Given the description of an element on the screen output the (x, y) to click on. 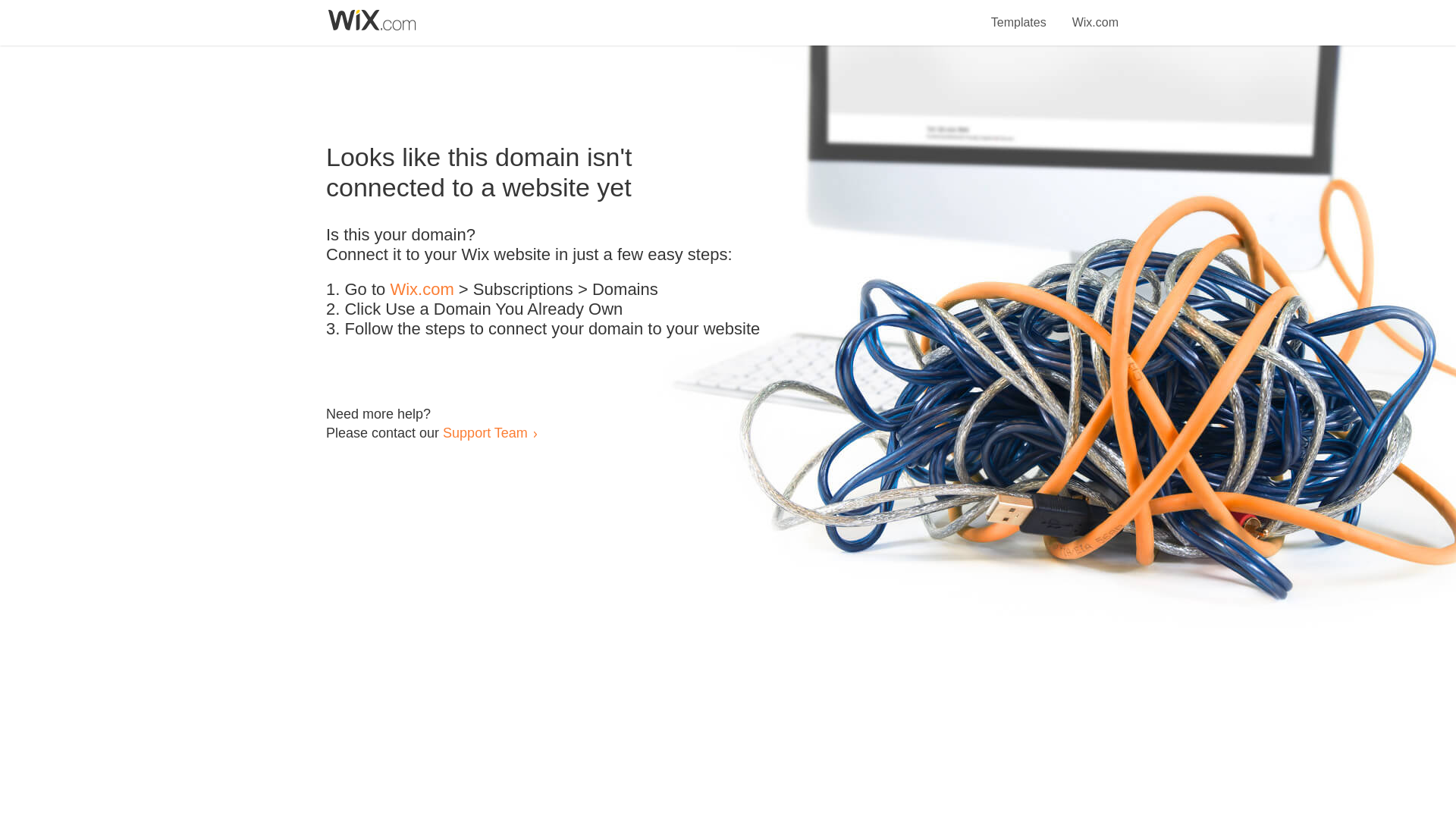
Templates (1018, 14)
Wix.com (421, 289)
Support Team (484, 432)
Wix.com (1095, 14)
